Given the description of an element on the screen output the (x, y) to click on. 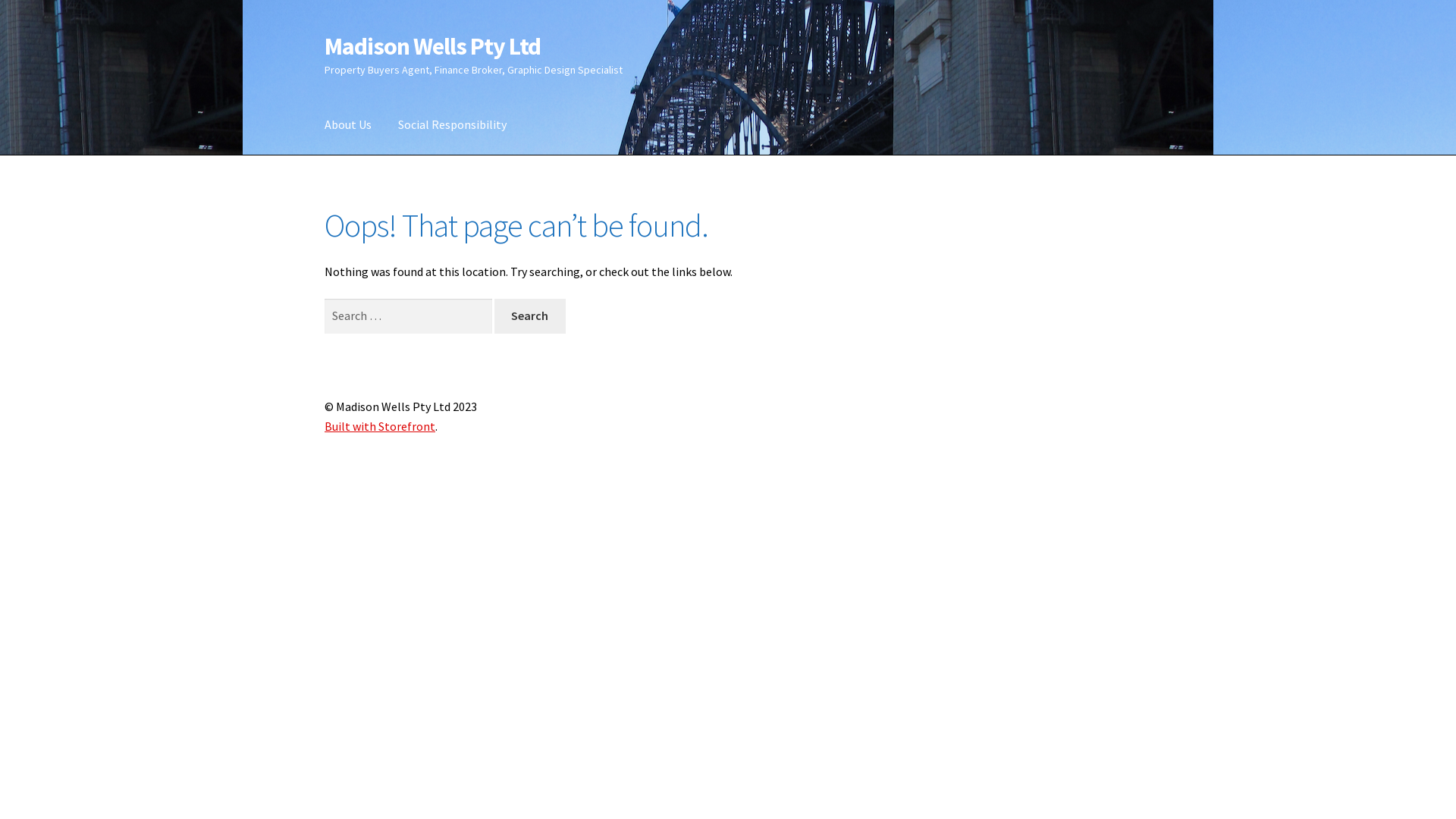
Madison Wells Pty Ltd Element type: text (432, 46)
Skip to navigation Element type: text (323, 31)
Search Element type: text (529, 315)
Social Responsibility Element type: text (451, 124)
About Us Element type: text (347, 124)
Built with Storefront Element type: text (379, 425)
